Given the description of an element on the screen output the (x, y) to click on. 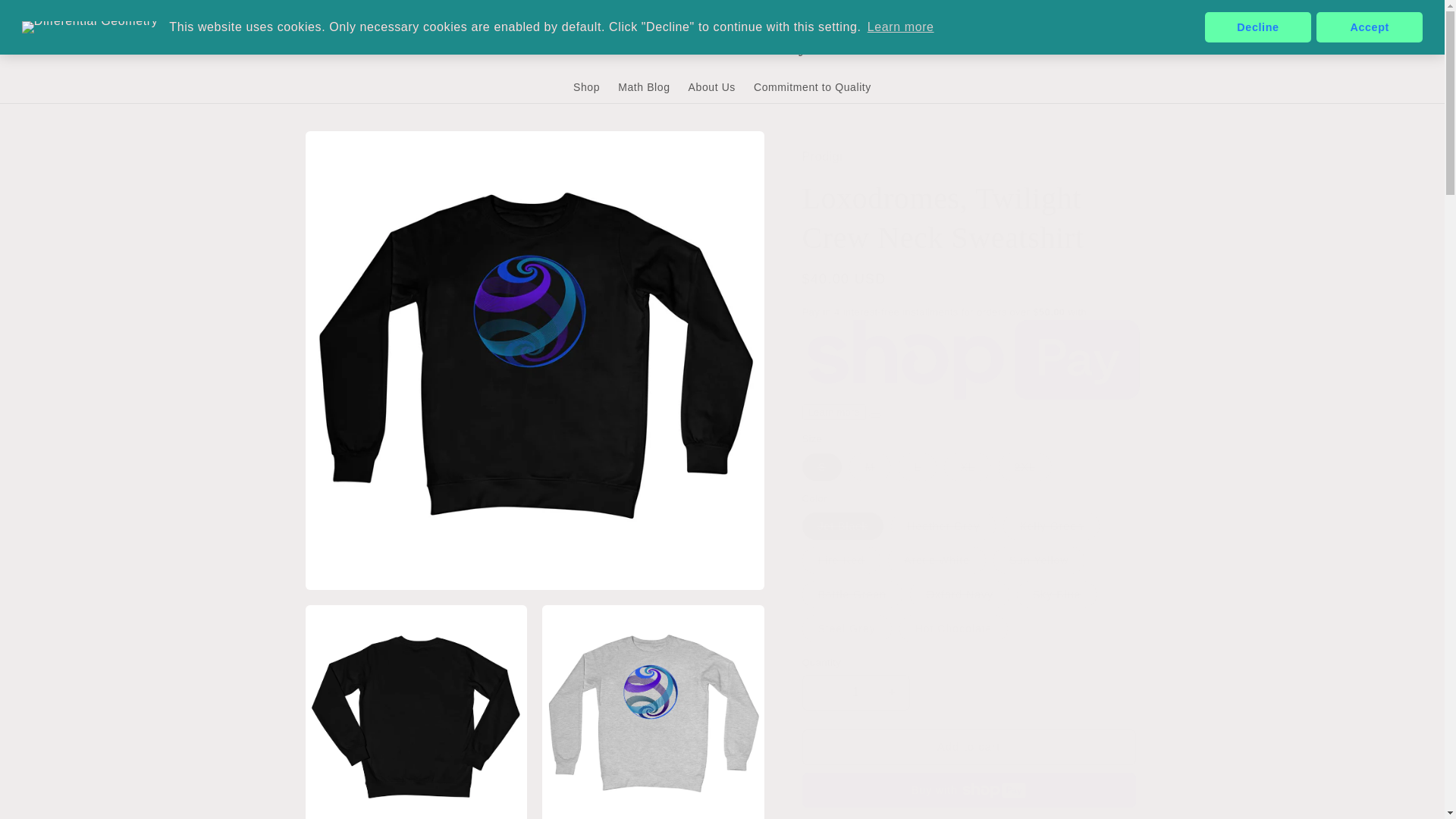
Cart (1124, 46)
Commitment to Quality (812, 87)
Log in (1091, 46)
Math Blog (643, 87)
Skip to content (45, 17)
Differential Geometry (721, 46)
